Given the description of an element on the screen output the (x, y) to click on. 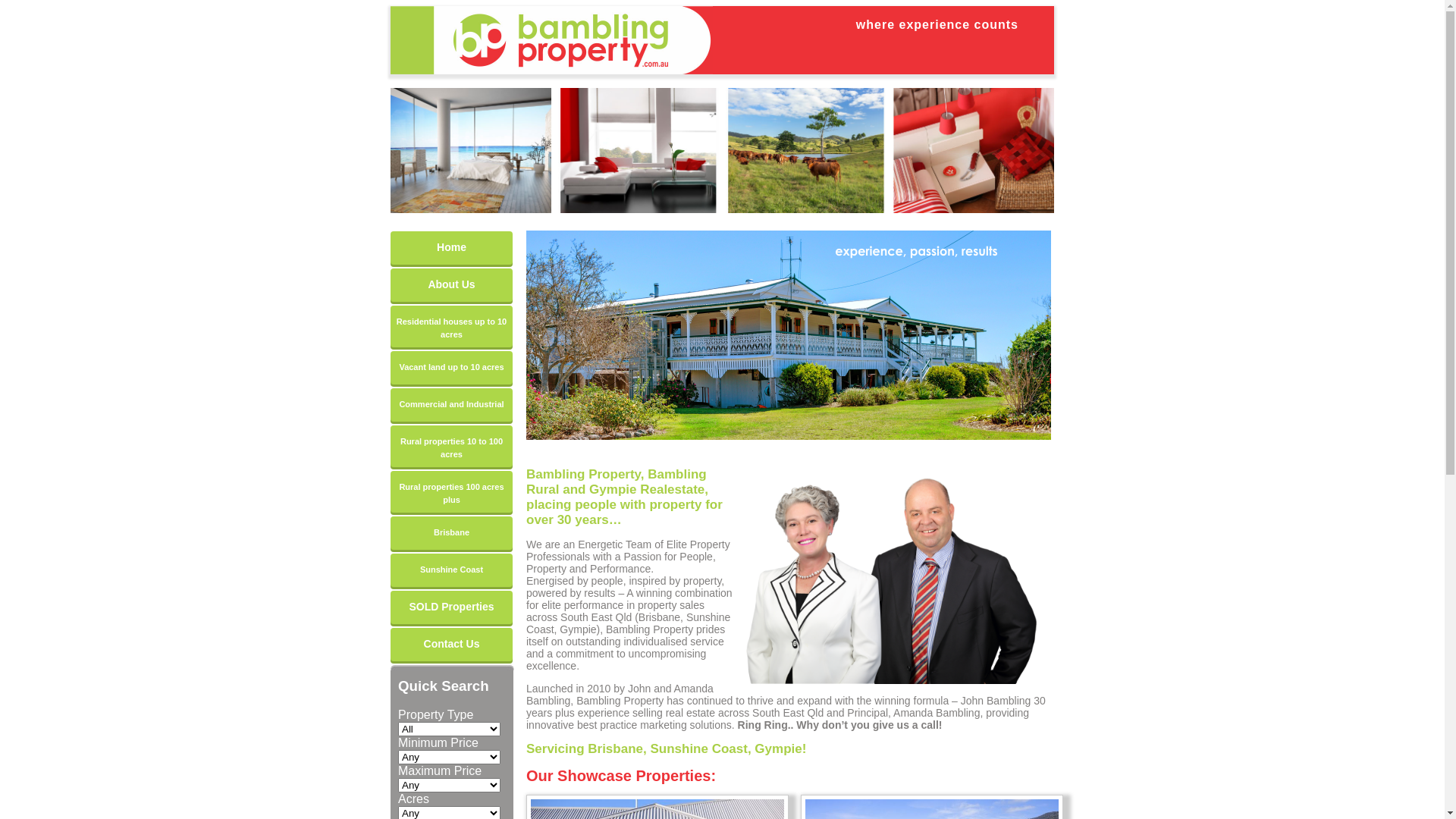
Vacant land up to 10 acres Element type: text (451, 367)
Rural properties 10 to 100 acres Element type: text (451, 446)
Rural properties 100 acres plus Element type: text (451, 491)
SOLD Properties Element type: text (451, 607)
Home Element type: text (451, 247)
Contact Us Element type: text (451, 644)
Brisbane Element type: text (451, 532)
Sunshine Coast Element type: text (451, 569)
About Us Element type: text (451, 284)
Residential houses up to 10 acres Element type: text (451, 326)
Commercial and Industrial Element type: text (451, 404)
